Given the description of an element on the screen output the (x, y) to click on. 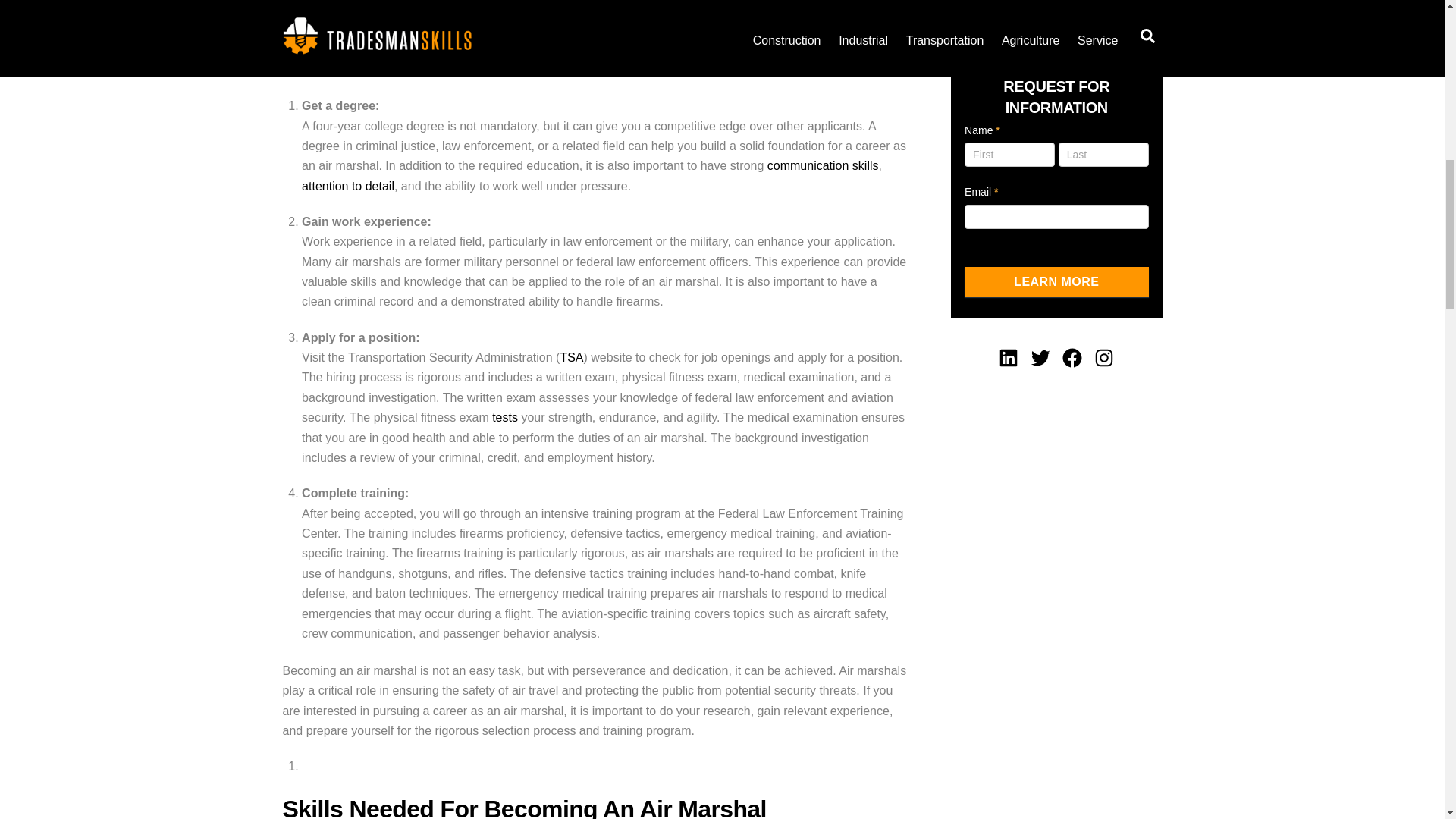
TSA (571, 357)
tests (505, 417)
communication skills (823, 164)
attention to detail (347, 185)
